Given the description of an element on the screen output the (x, y) to click on. 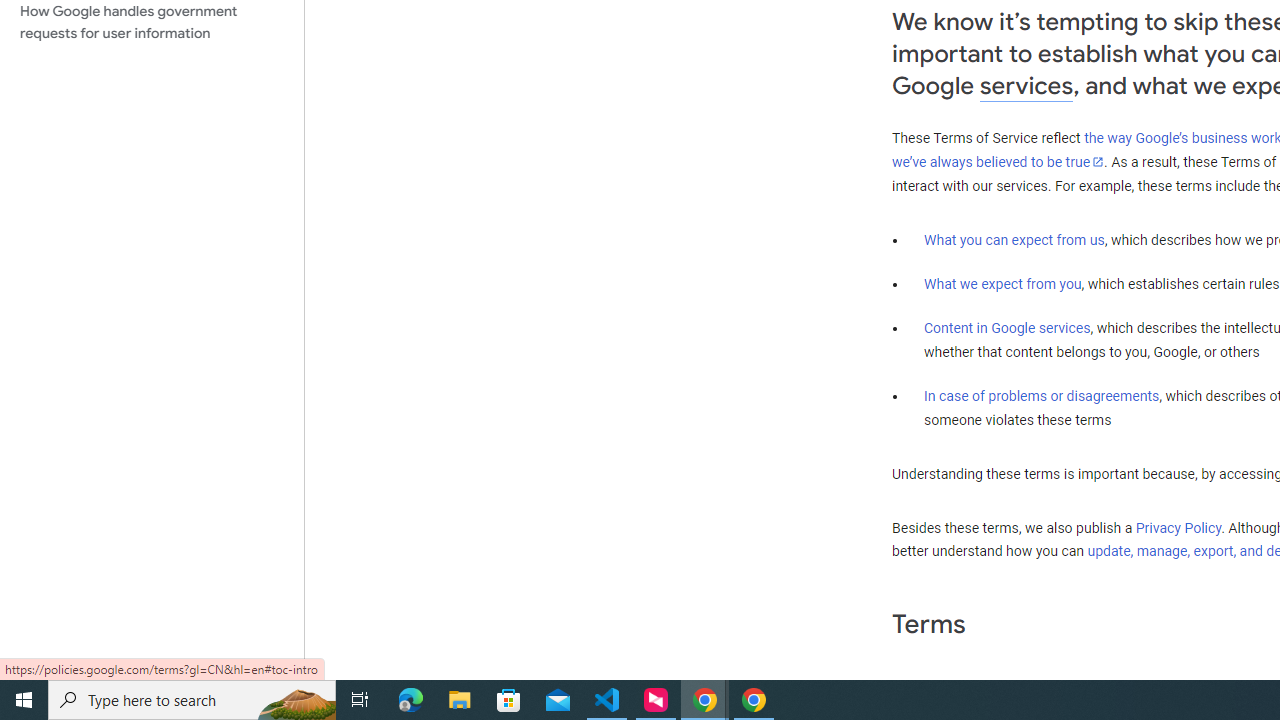
Privacy Policy (1178, 528)
What we expect from you (1002, 284)
What you can expect from us (1014, 240)
In case of problems or disagreements (1041, 395)
services (1026, 85)
Content in Google services (1007, 327)
